Given the description of an element on the screen output the (x, y) to click on. 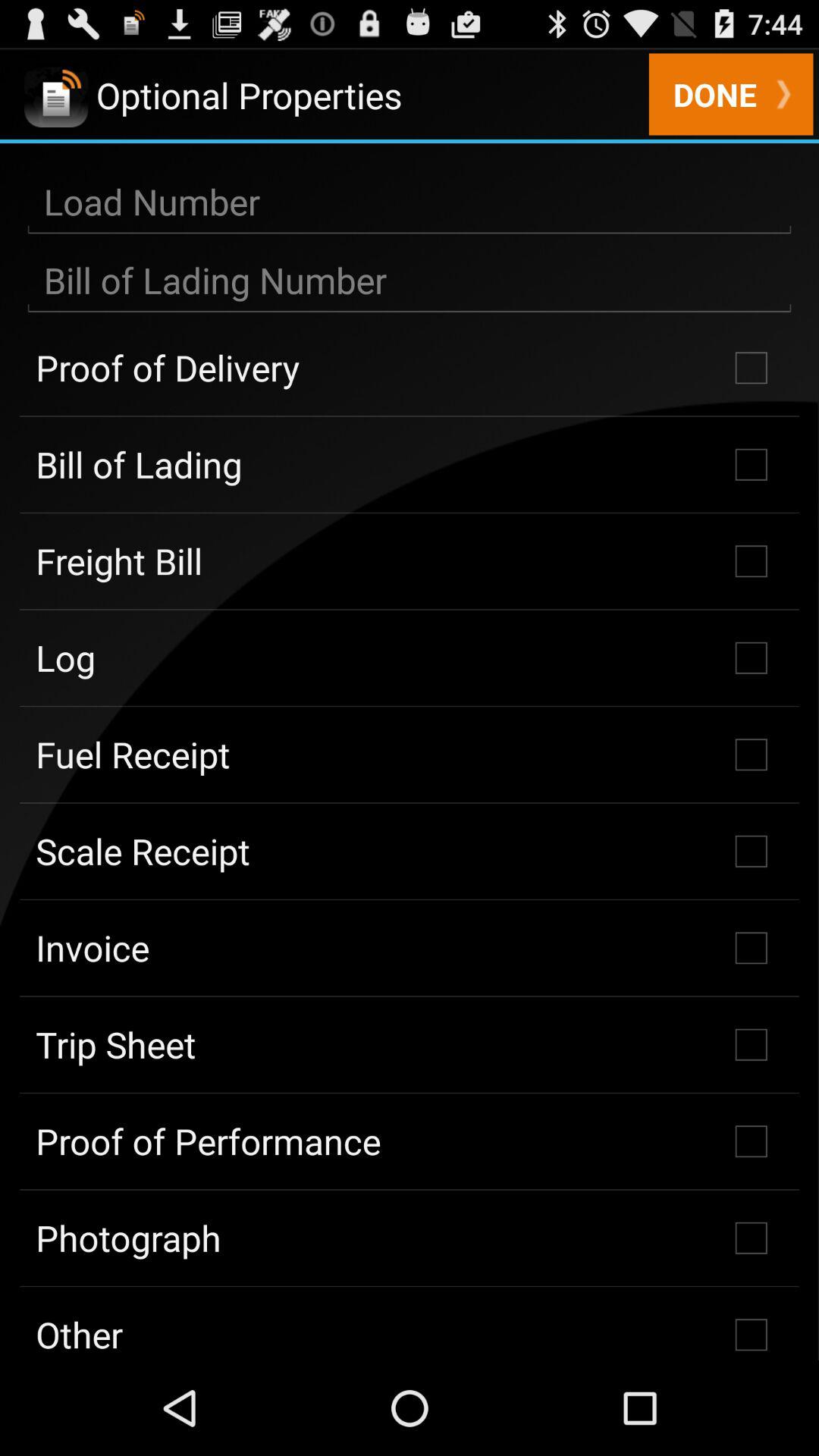
flip until done button (731, 95)
